Given the description of an element on the screen output the (x, y) to click on. 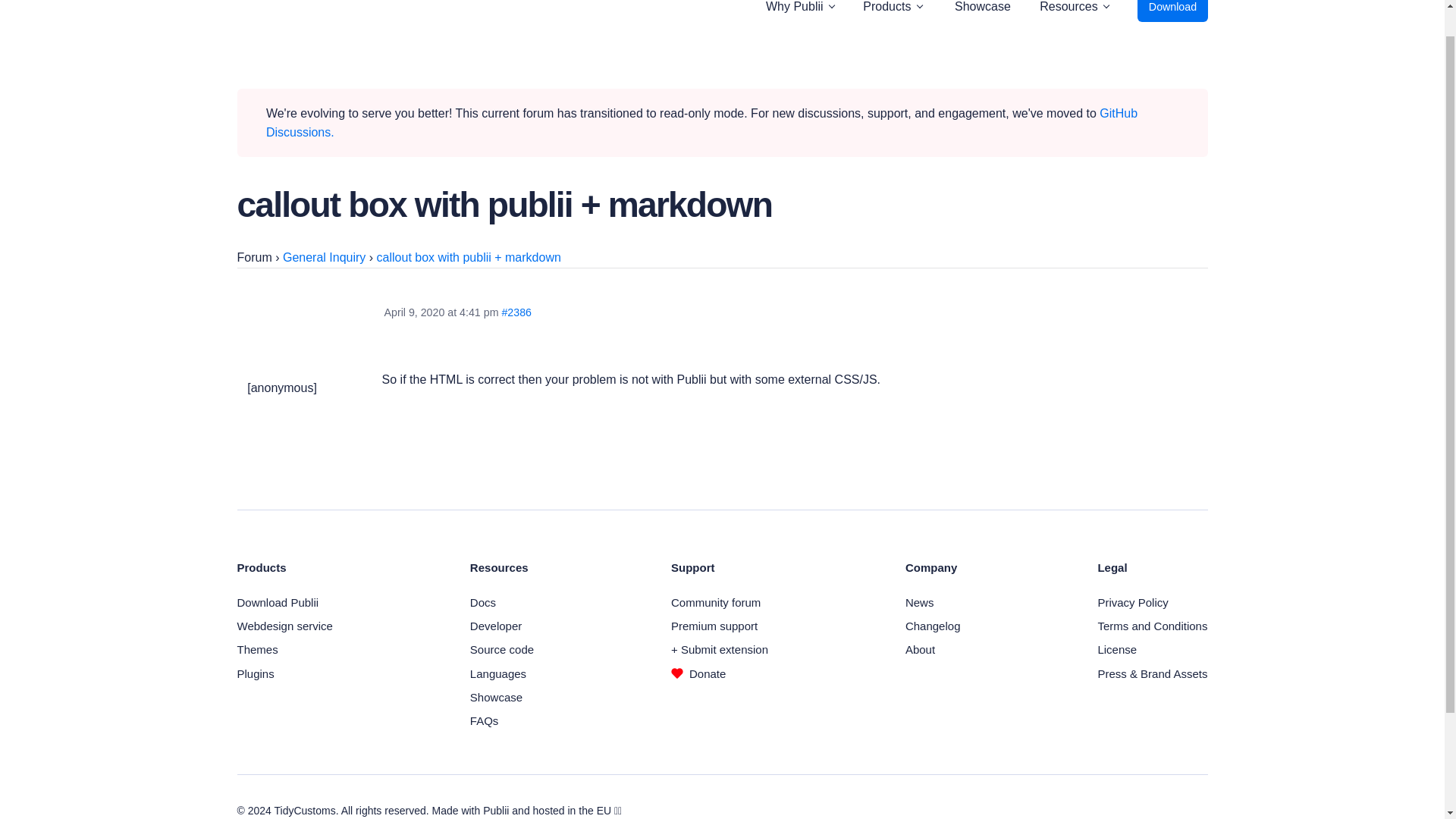
Source code (502, 649)
FAQs (484, 720)
Languages (497, 673)
Changelog (932, 625)
Plugins (254, 673)
GitHub Discussions. (701, 123)
Community forum (715, 602)
Showcase (496, 697)
Themes (256, 649)
Privacy Policy (1132, 602)
Terms and Conditions (1152, 625)
About (919, 649)
Developer (495, 625)
Forum (252, 256)
Donate (698, 673)
